Given the description of an element on the screen output the (x, y) to click on. 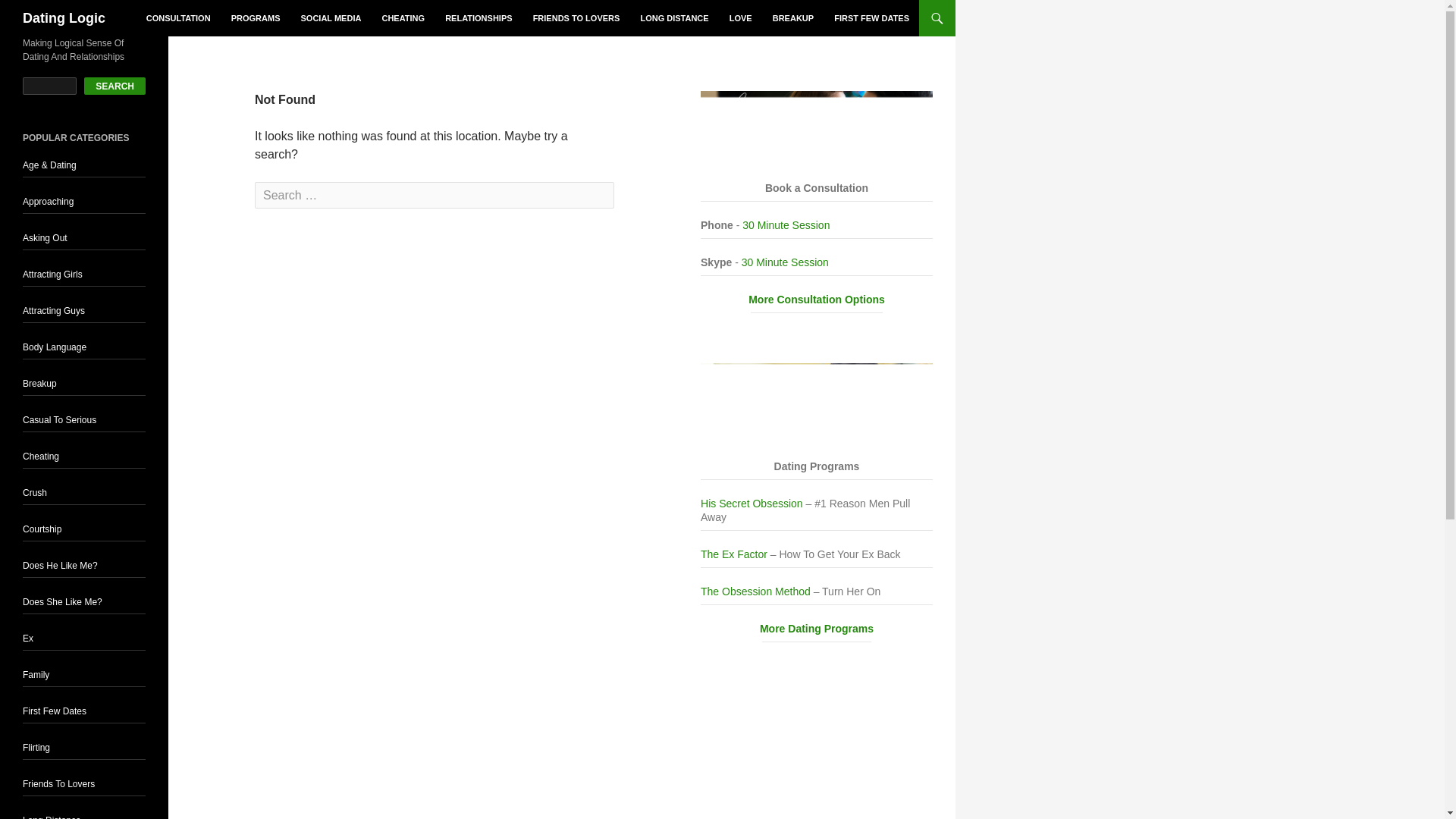
Breakup (39, 383)
Family (36, 674)
Dating Logic (63, 18)
Does She Like Me? (62, 602)
30 Minute Session (785, 224)
Ex (28, 638)
Asking Out (44, 237)
CONSULTATION (177, 18)
Search (42, 13)
LOVE (740, 18)
